Given the description of an element on the screen output the (x, y) to click on. 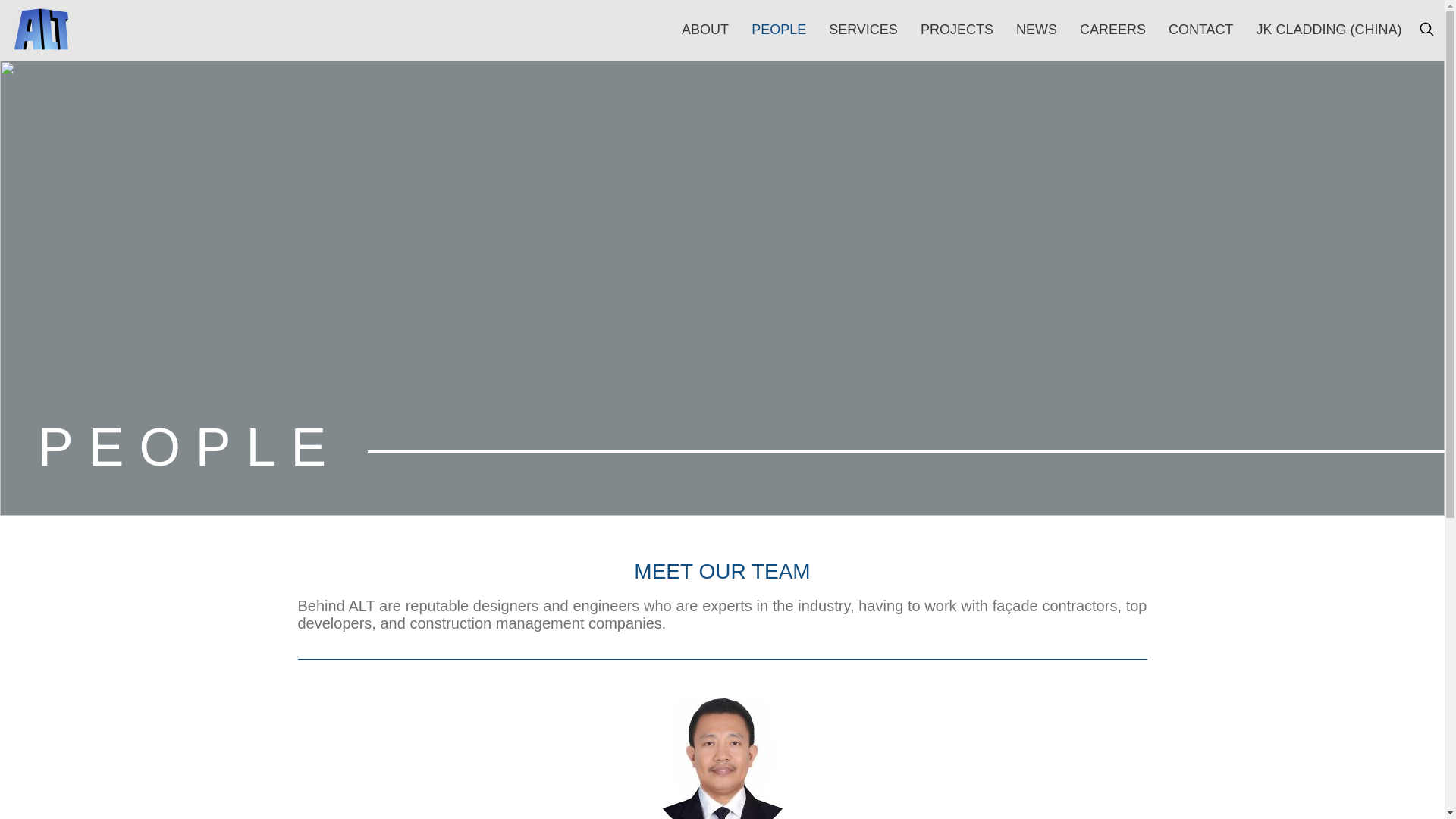
SERVICES (862, 29)
CONTACT (1200, 29)
CAREERS (1112, 29)
NEWS (1036, 29)
PEOPLE (777, 29)
EDWIN AGUSTIN (721, 752)
ABOUT (704, 29)
PROJECTS (956, 29)
ALT (40, 29)
